Given the description of an element on the screen output the (x, y) to click on. 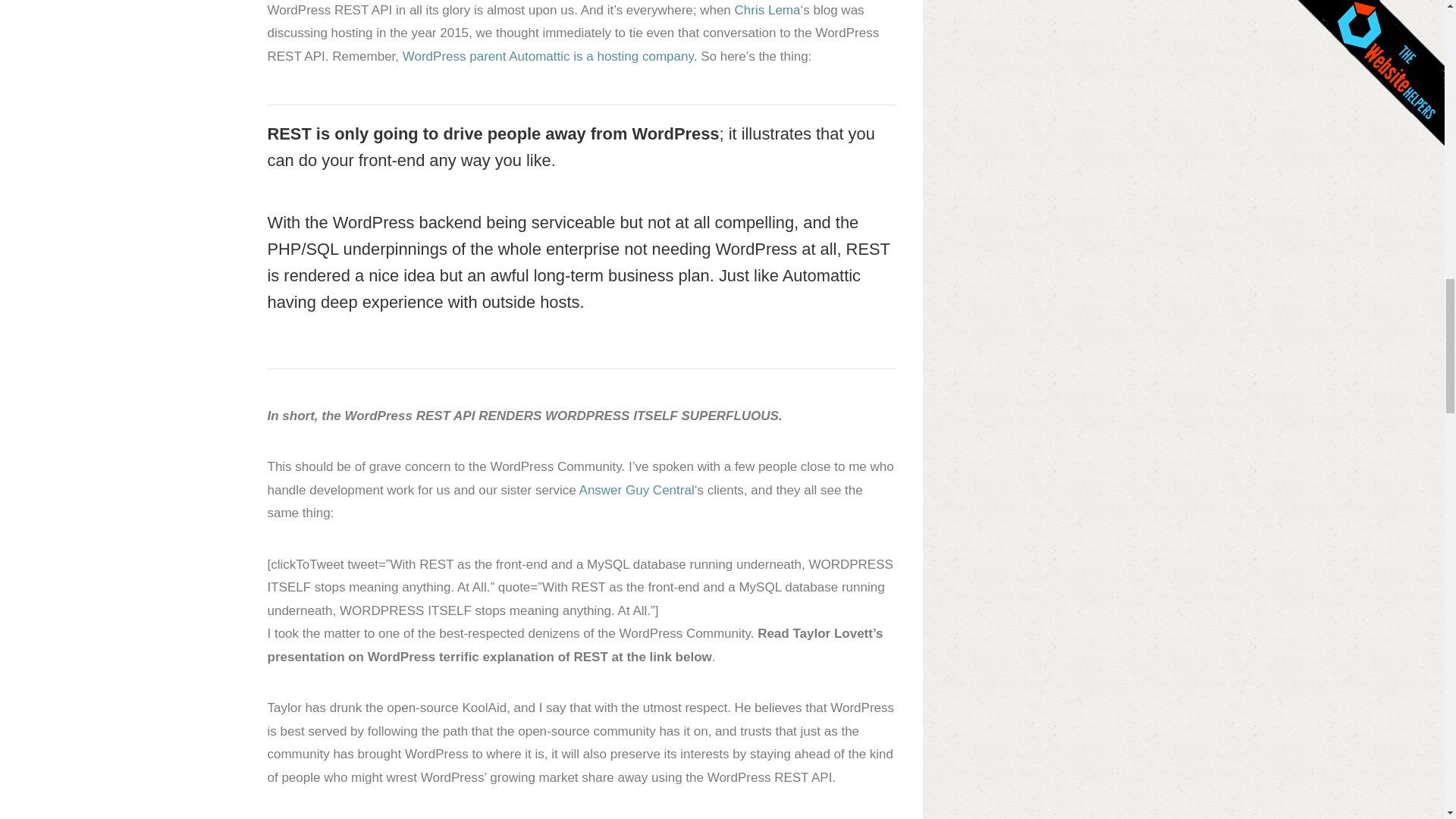
Making it rain in WordPress (767, 10)
Moving from WordPress.ORG to WordPress.COM (548, 56)
Visit the Answer Guy (636, 490)
